Given the description of an element on the screen output the (x, y) to click on. 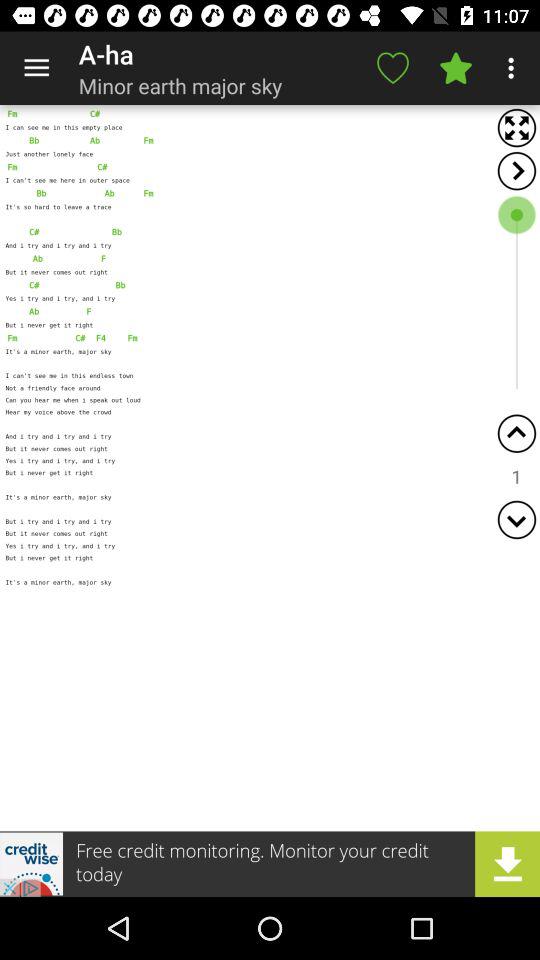
scroll down (516, 519)
